Given the description of an element on the screen output the (x, y) to click on. 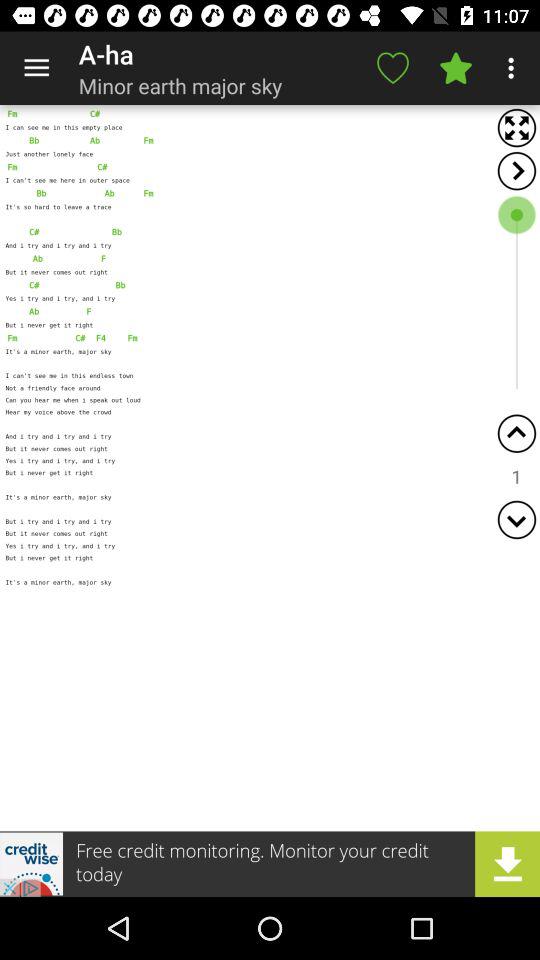
scroll down (516, 519)
